Given the description of an element on the screen output the (x, y) to click on. 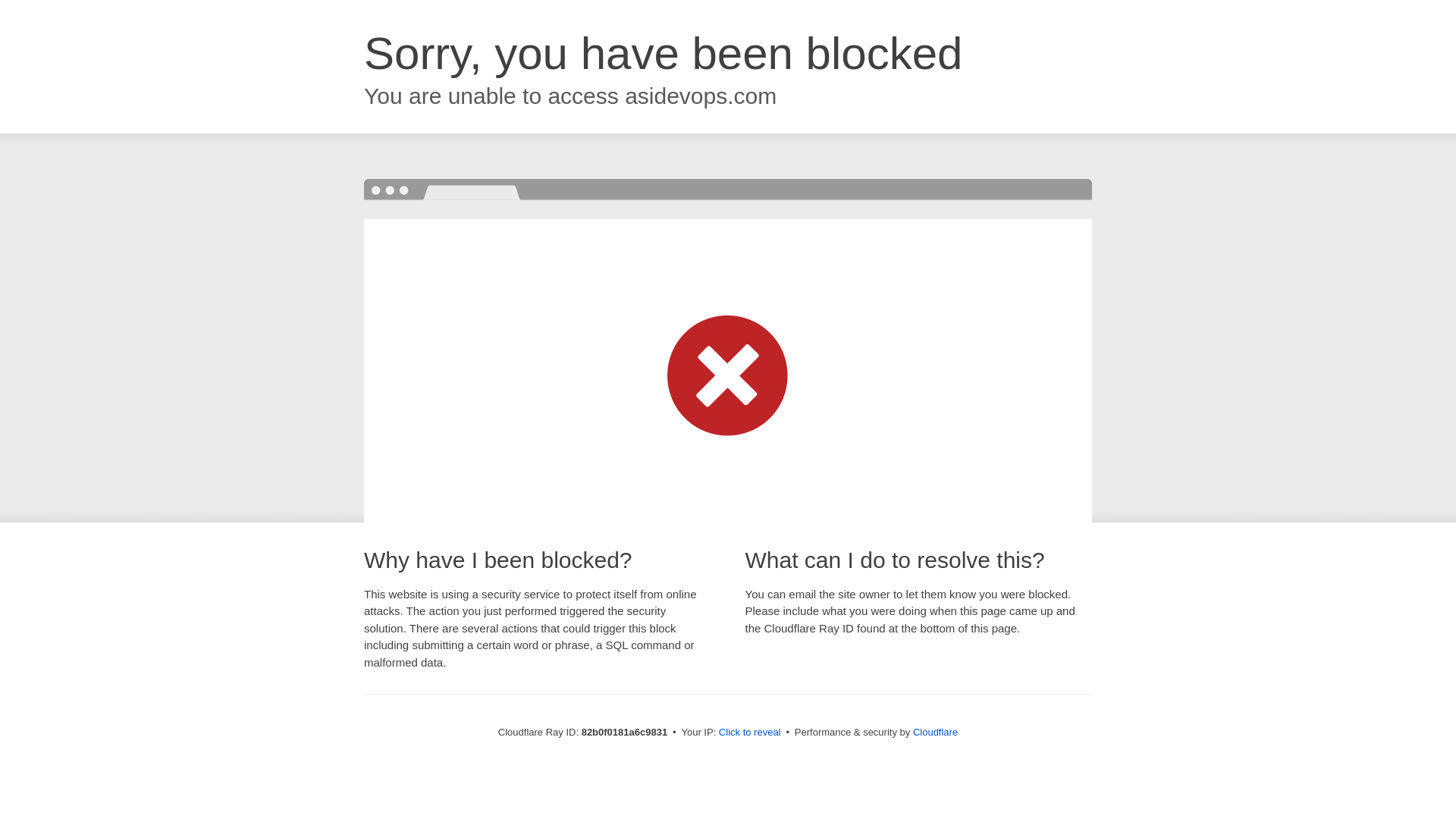
Cloudflare Element type: text (935, 731)
Click to reveal Element type: text (749, 732)
